Given the description of an element on the screen output the (x, y) to click on. 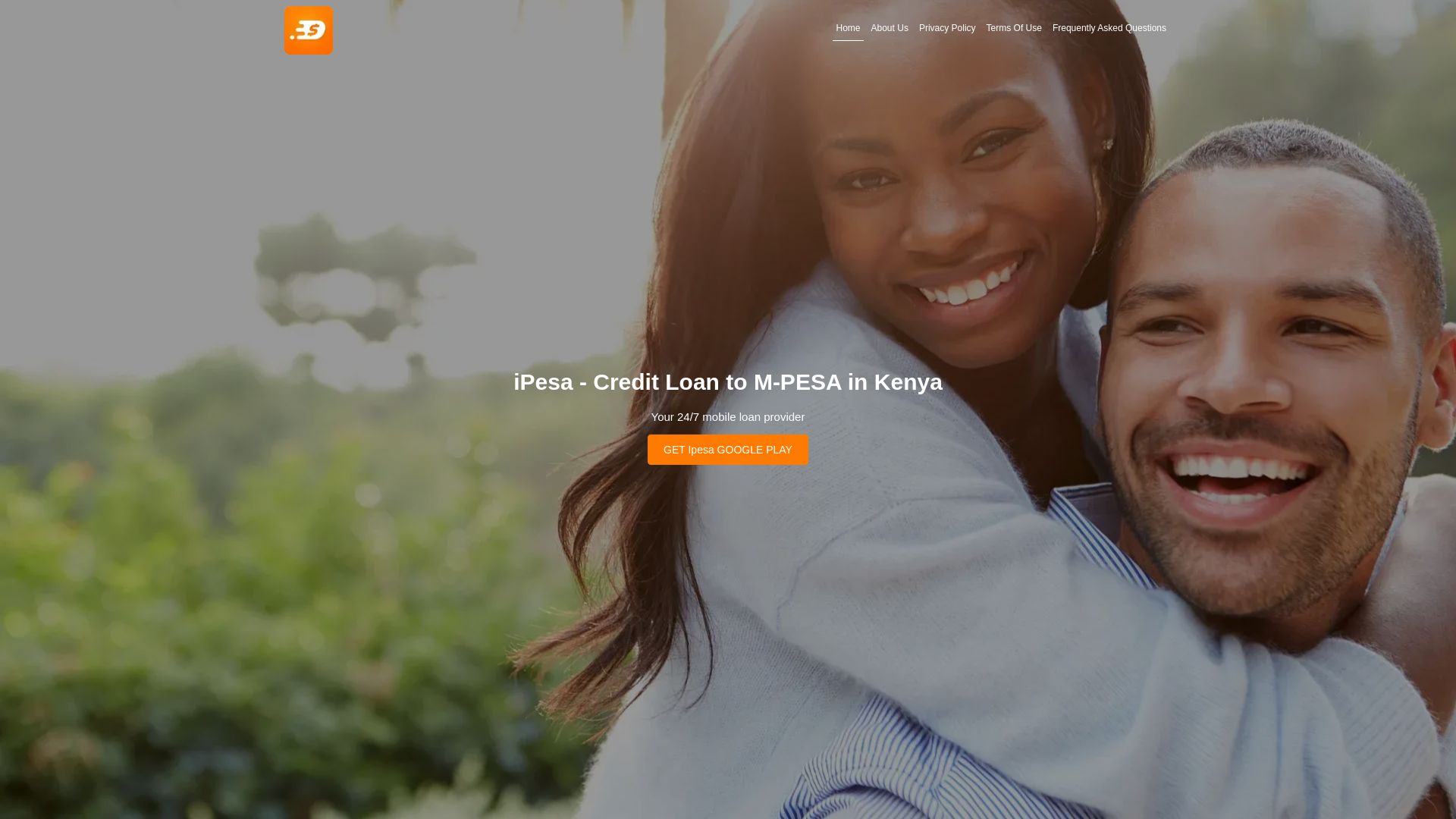
GET Ipesa GOOGLE PLAY Element type: text (727, 449)
Terms Of Use Element type: text (1014, 28)
About Us Element type: text (889, 28)
GET Ipesa GOOGLE PLAY Element type: text (727, 448)
Privacy Policy Element type: text (947, 28)
Frequently Asked Questions Element type: text (1109, 28)
Home Element type: text (848, 28)
